Given the description of an element on the screen output the (x, y) to click on. 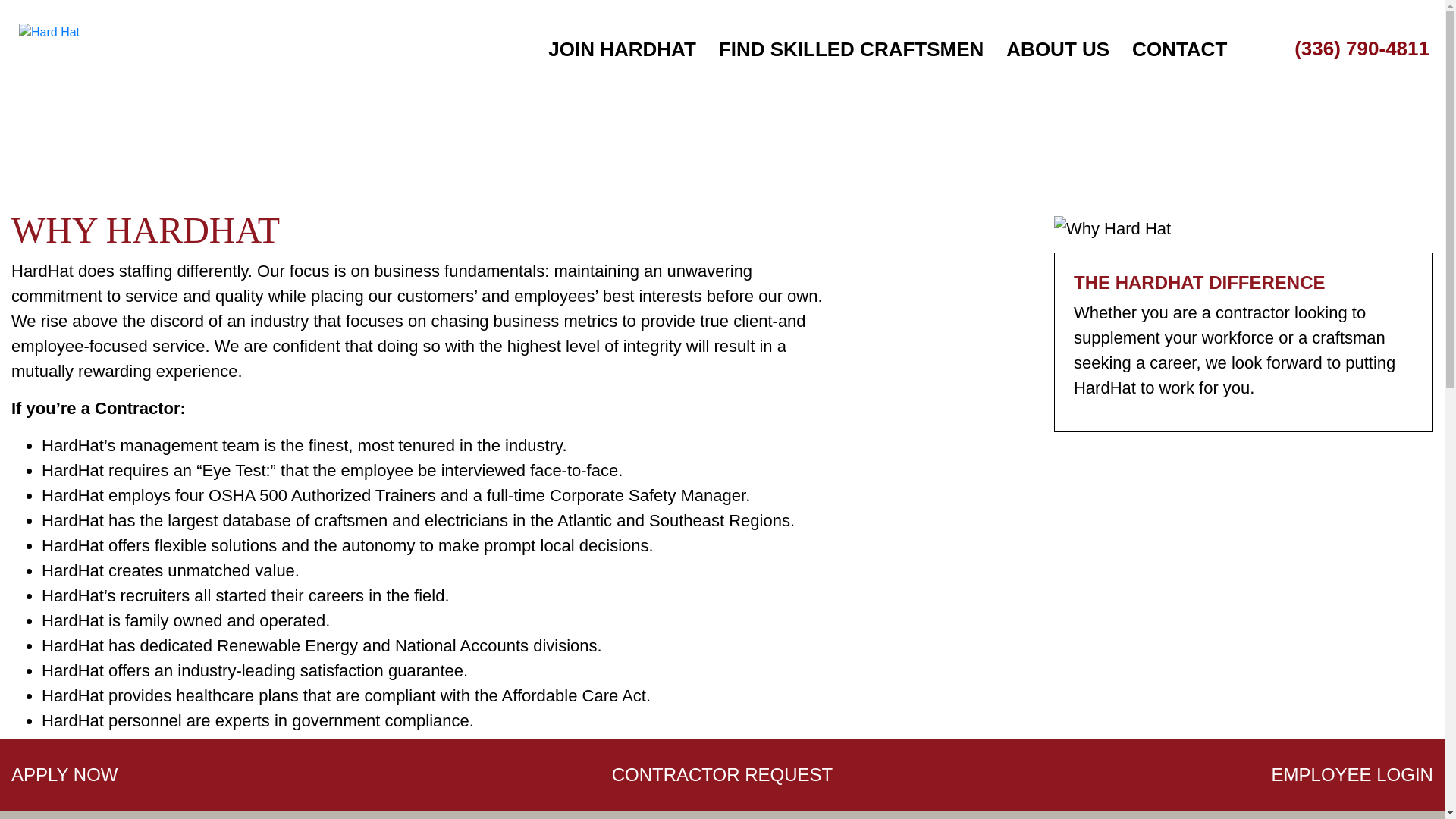
FIND SKILLED CRAFTSMEN (851, 56)
JOIN HARDHAT (622, 56)
ABOUT US (1057, 56)
Why Hard Hat (1112, 228)
Hard Hat (49, 32)
CONTACT (1180, 56)
